Given the description of an element on the screen output the (x, y) to click on. 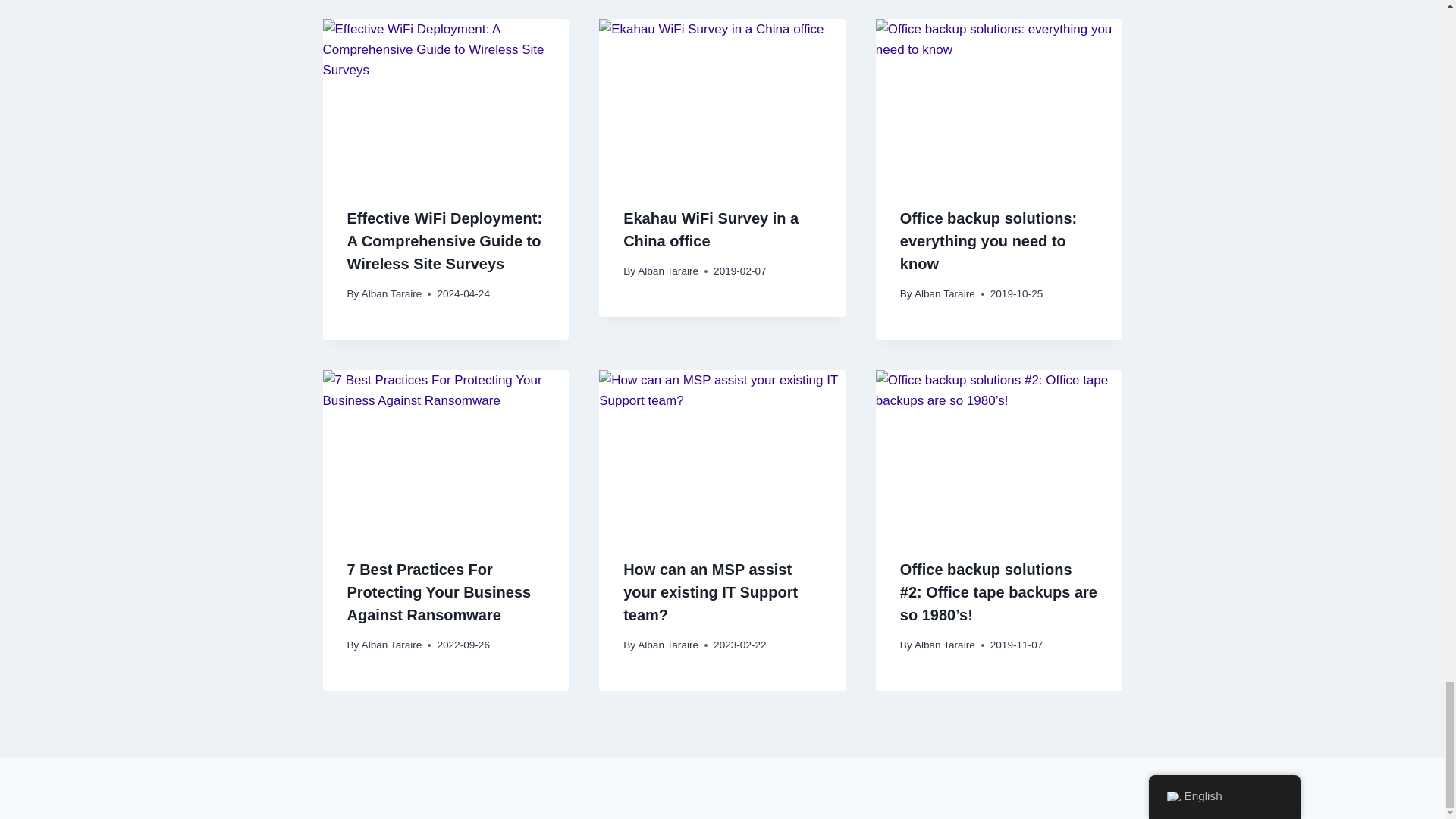
Alban Taraire (391, 293)
